Given the description of an element on the screen output the (x, y) to click on. 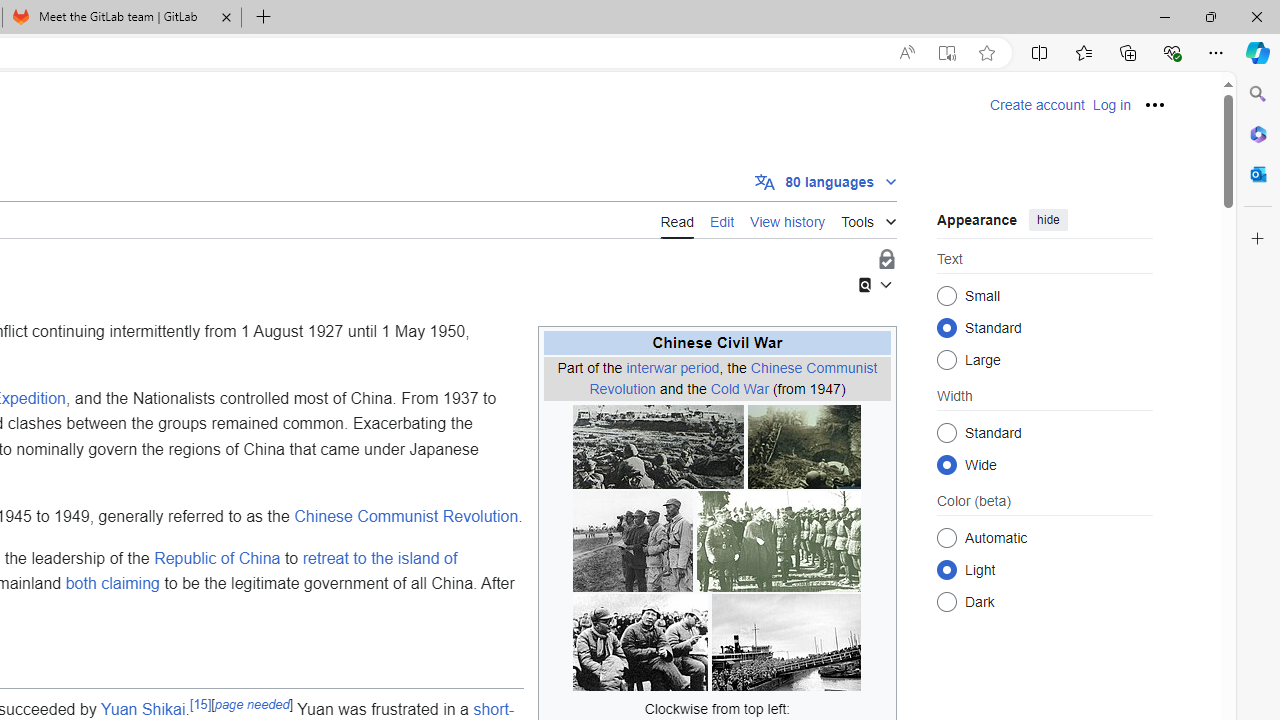
View history (787, 219)
Class: mw-list-item mw-list-item-js (1044, 569)
both claiming (112, 584)
interwar period (672, 367)
Chinese Communist Revolution (406, 517)
Create account (1037, 105)
Cold War (739, 388)
Create account (1037, 105)
